Given the description of an element on the screen output the (x, y) to click on. 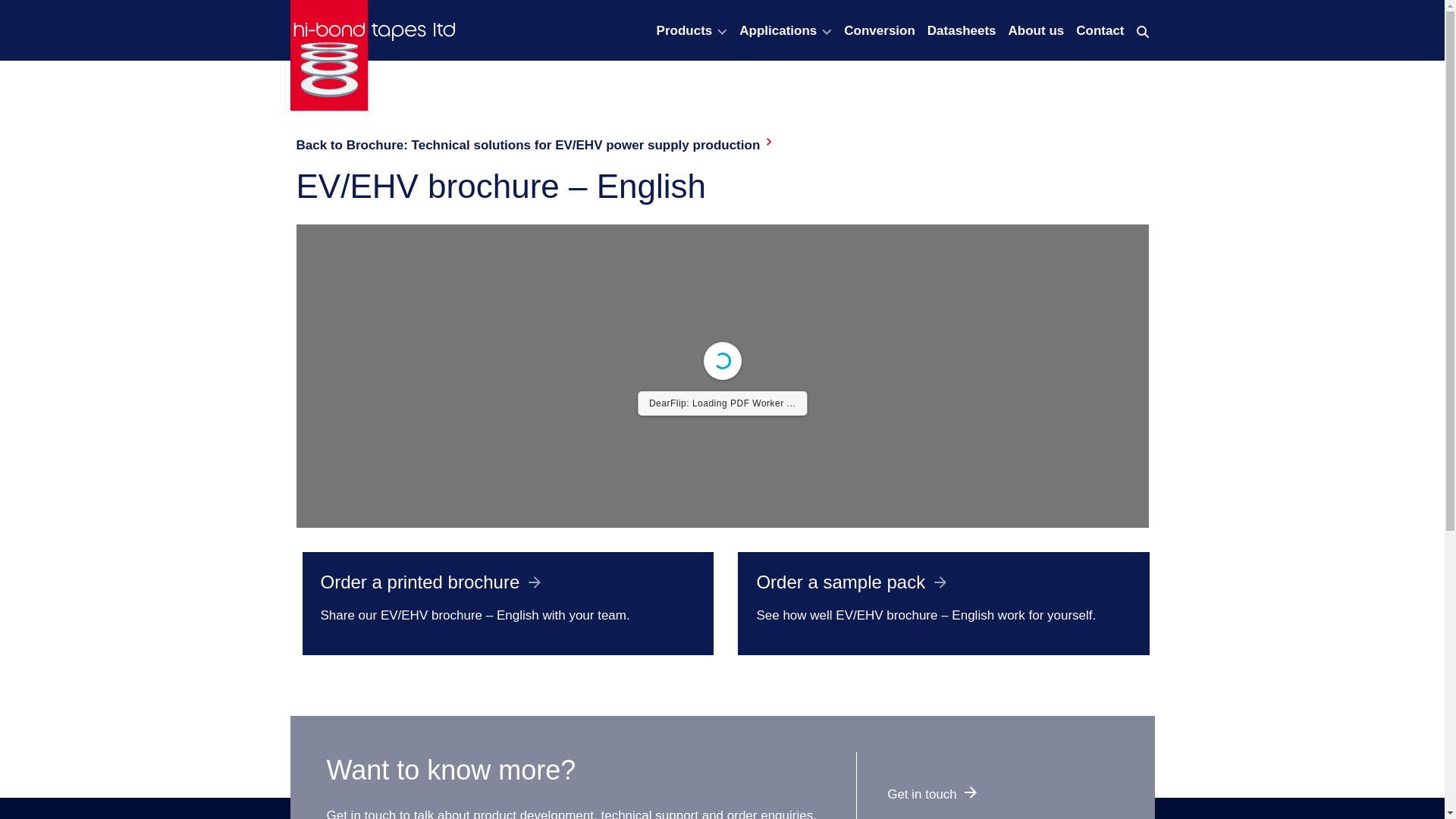
Datasheets (961, 30)
Conversion (879, 30)
About us (1036, 30)
Products (684, 30)
Contact (1099, 30)
Get in touch (931, 794)
Applications (777, 30)
